Given the description of an element on the screen output the (x, y) to click on. 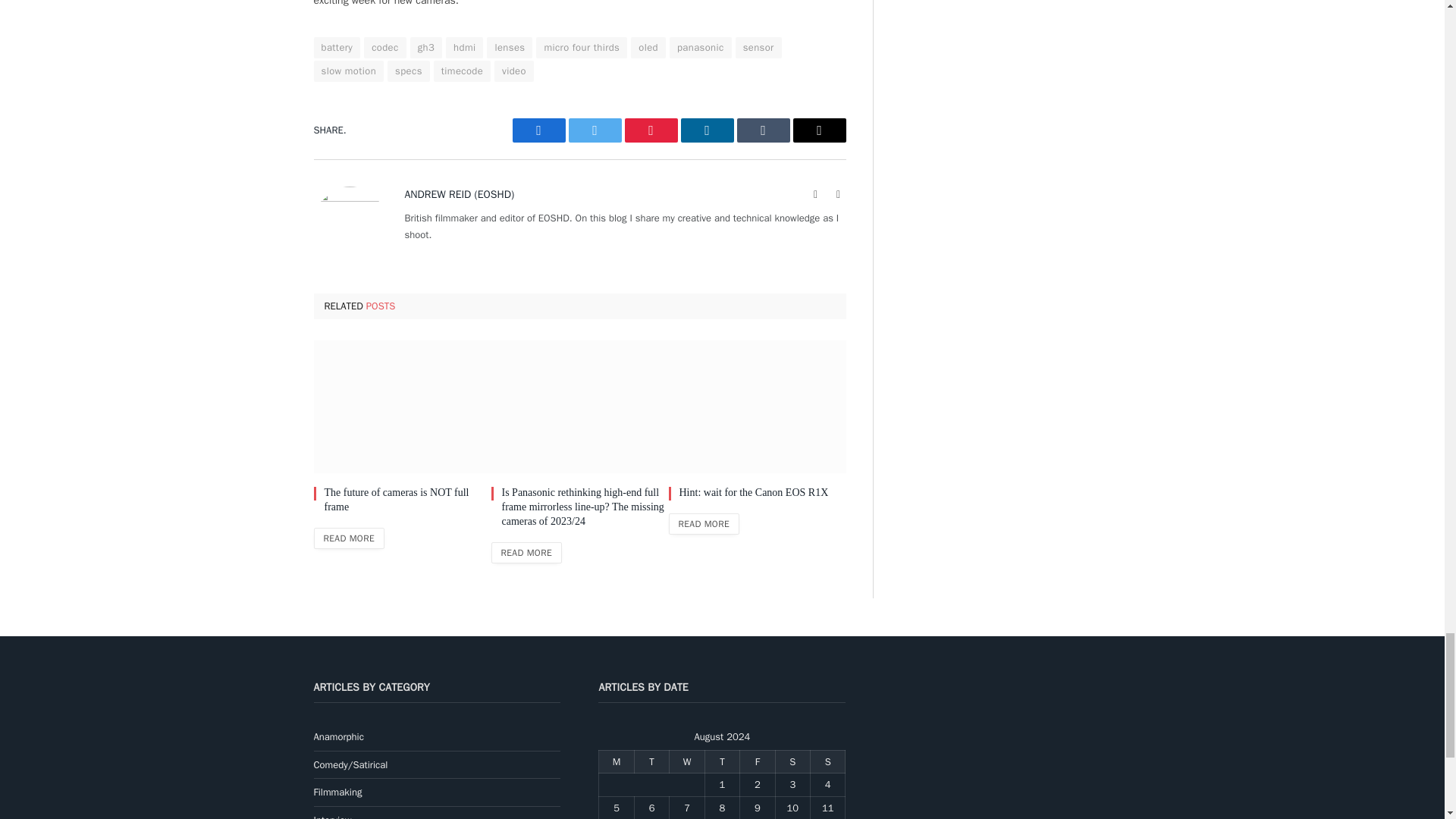
Share on Facebook (539, 129)
Share on Pinterest (651, 129)
Share on LinkedIn (707, 129)
Website (816, 194)
Share via Email (819, 129)
Share on Tumblr (763, 129)
